Given the description of an element on the screen output the (x, y) to click on. 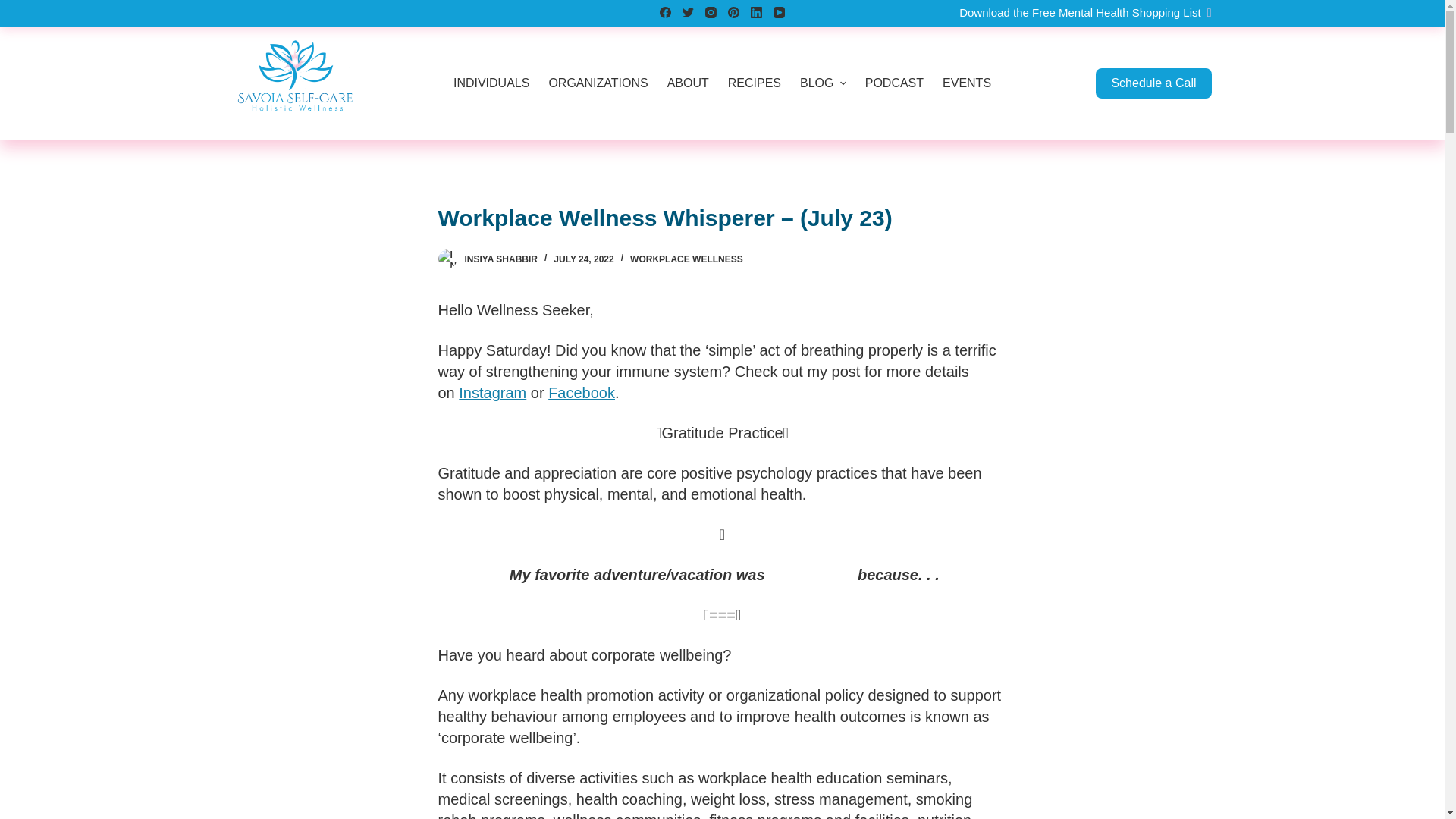
Skip to content (15, 7)
Posts by Insiya Shabbir (500, 258)
INSIYA SHABBIR (500, 258)
WORKPLACE WELLNESS (686, 258)
Download the Free Mental Health Shopping List (1085, 11)
Schedule a Call (1153, 82)
ORGANIZATIONS (598, 83)
